Given the description of an element on the screen output the (x, y) to click on. 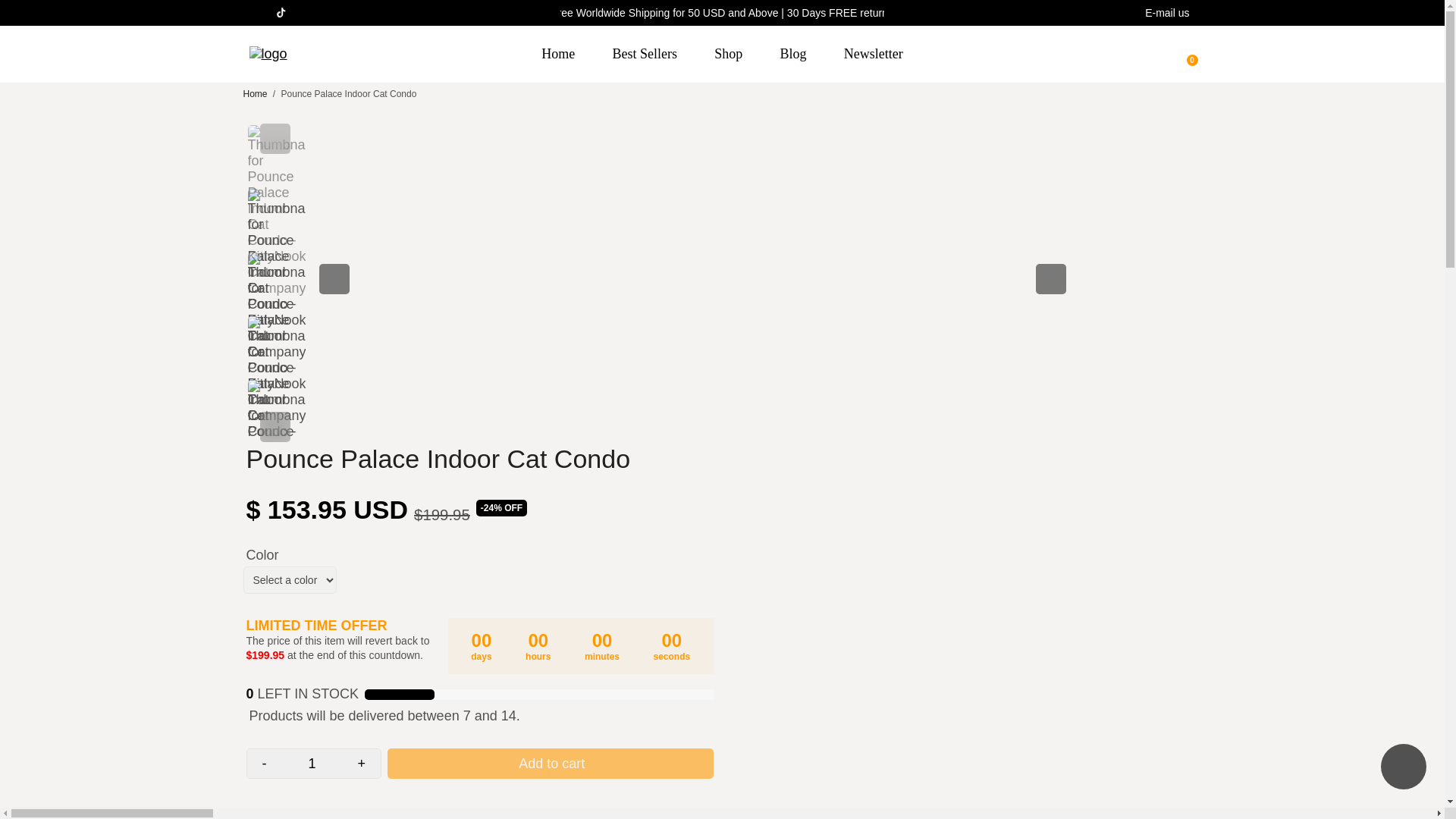
Home (557, 53)
Blog (793, 53)
Newsletter (873, 53)
Shop (727, 53)
Home (254, 93)
Best Sellers (643, 53)
E-mail us (1166, 12)
1 (312, 763)
Home (254, 93)
